Given the description of an element on the screen output the (x, y) to click on. 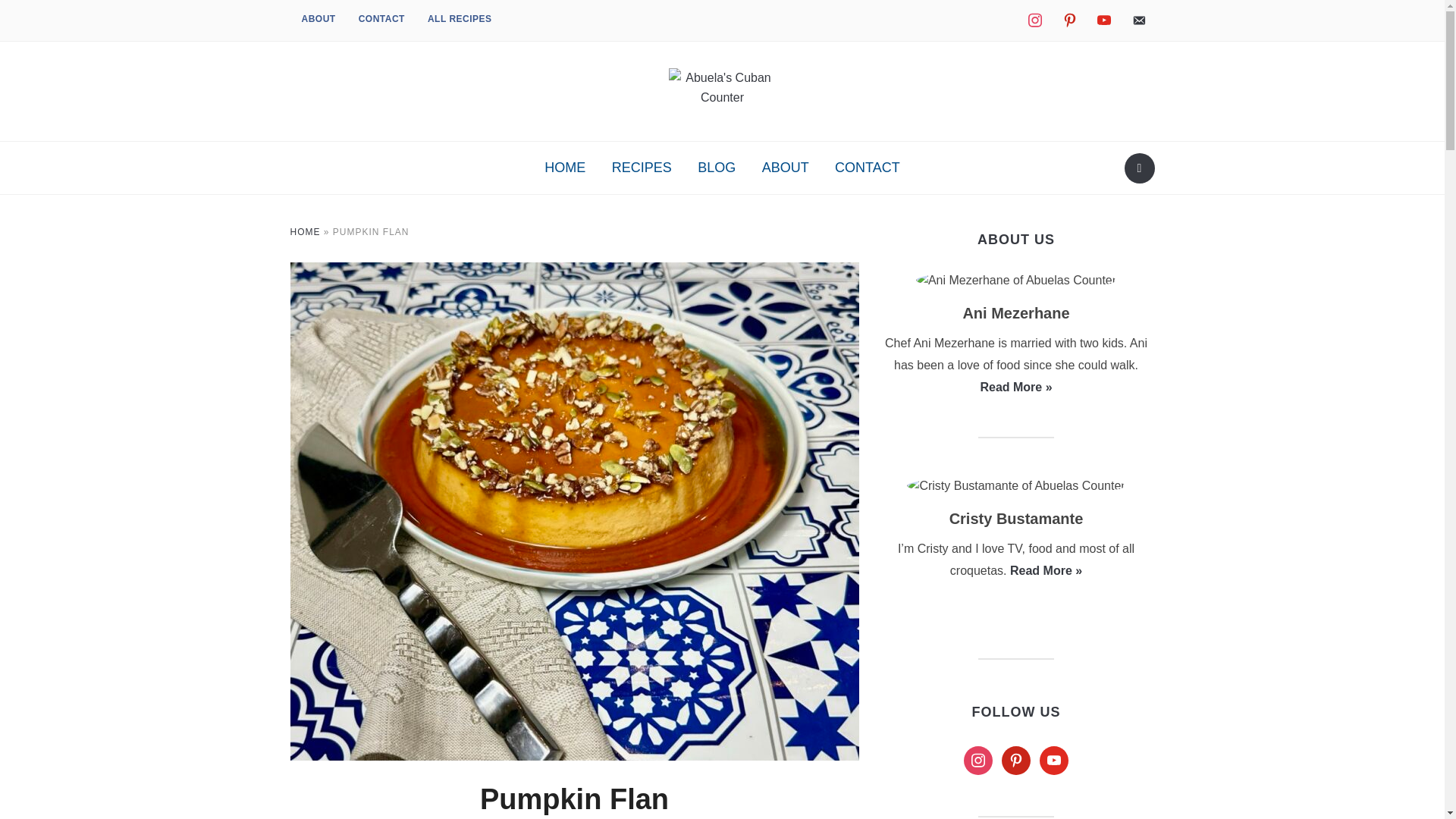
youtube (1053, 760)
Search (1139, 168)
instagram (978, 760)
CONTACT (1103, 20)
ALL RECIPES (1035, 20)
HOME (381, 19)
RECIPES (459, 19)
pinterest (564, 167)
mail (640, 167)
pinterest (1069, 20)
youtube (1138, 20)
instagram (1016, 760)
